Given the description of an element on the screen output the (x, y) to click on. 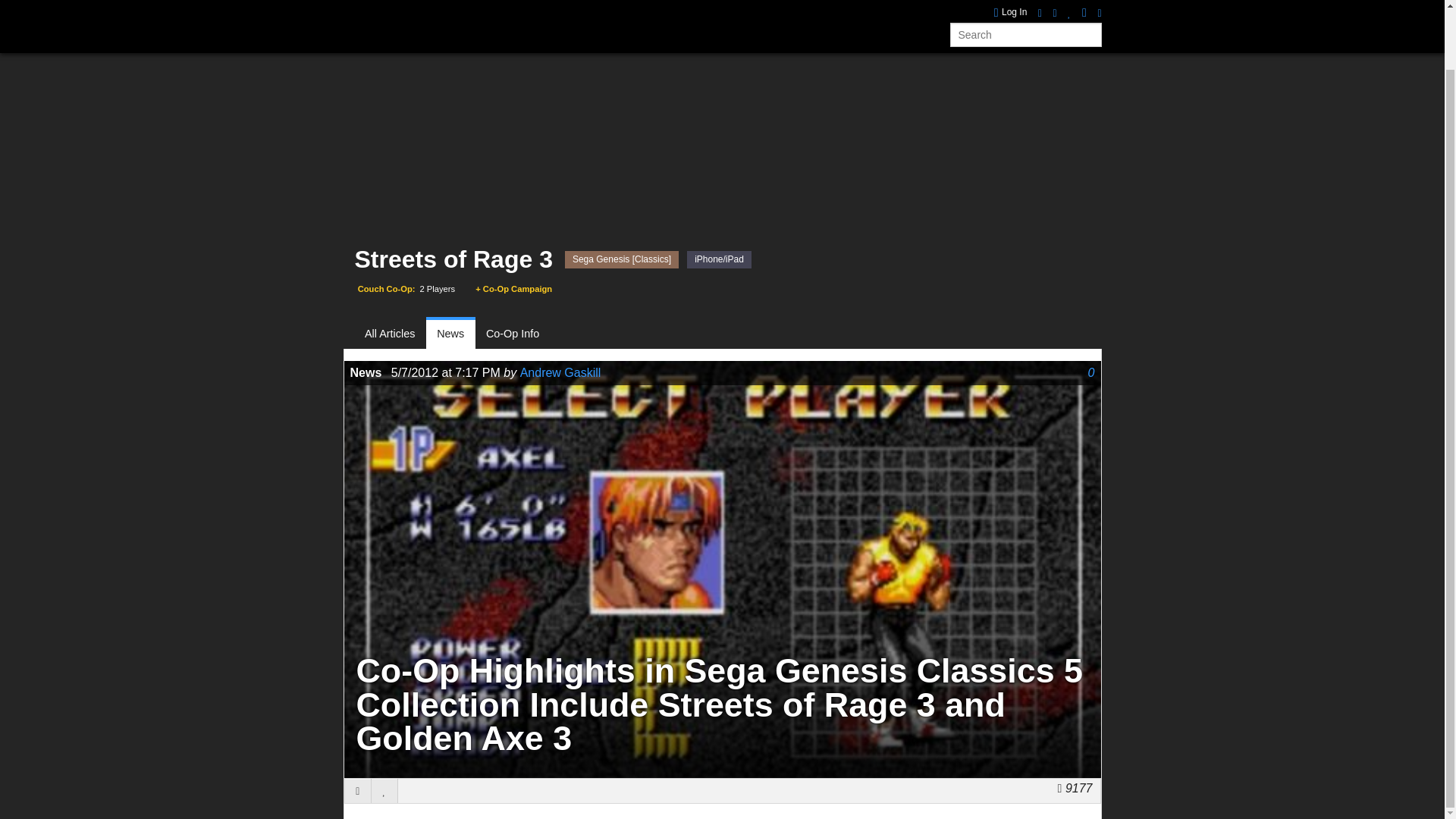
News (451, 334)
Stream Recaps (659, 5)
Weekly Video Streams and VODs from Co-Optimus (659, 5)
All Articles (395, 334)
Co-Op Info (513, 334)
Videos (584, 5)
Andrew Gaskill (560, 372)
Co-Op Games (401, 5)
EDF 6 Co-Op Review (1037, 4)
Reviews (526, 5)
News (471, 5)
Editorials (743, 5)
